Given the description of an element on the screen output the (x, y) to click on. 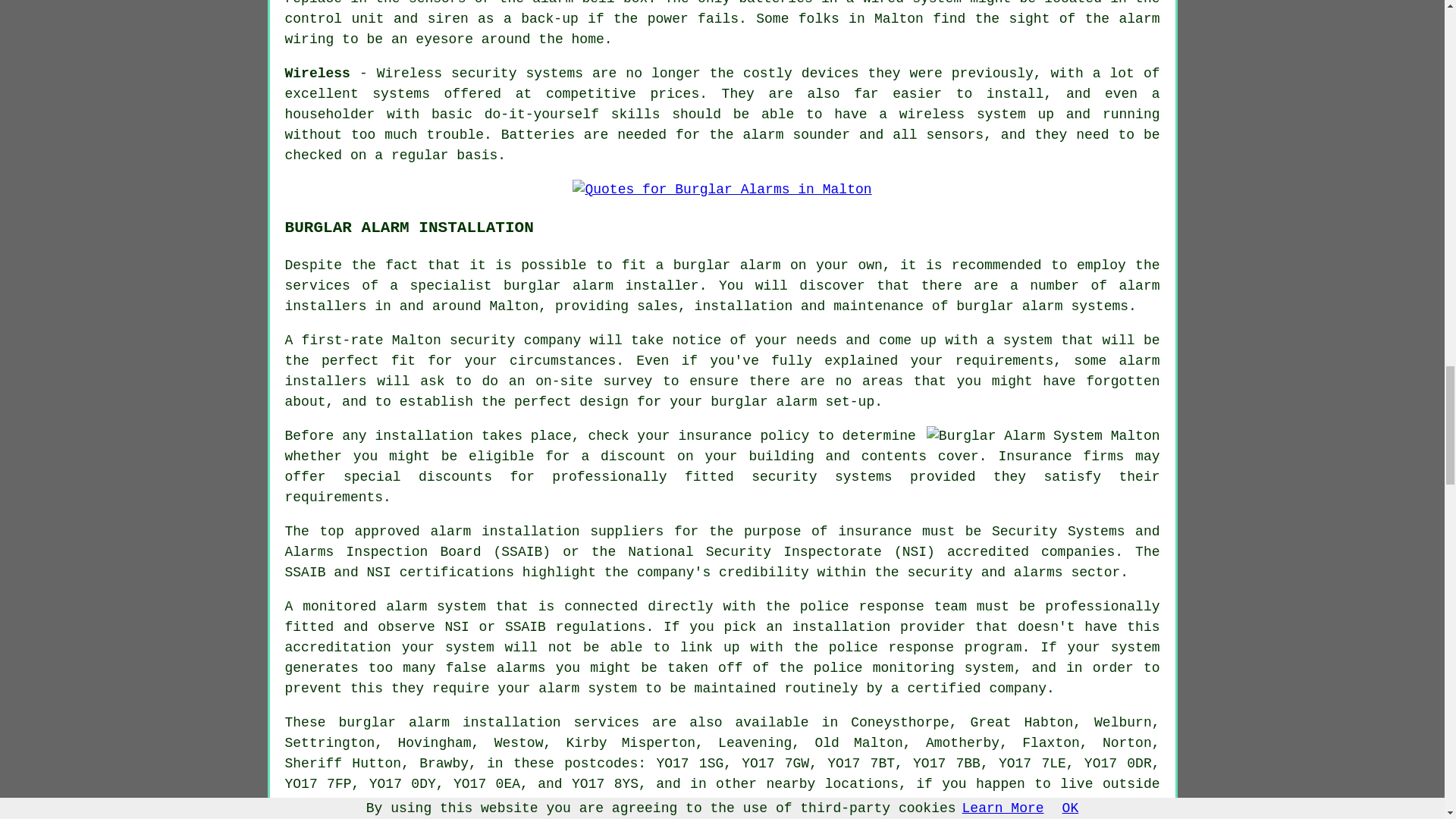
alarm (429, 722)
Quotes for Burglar Alarms in Malton (721, 189)
burglar alarm installers (590, 804)
Burglar Alarm System Malton (1043, 435)
